Given the description of an element on the screen output the (x, y) to click on. 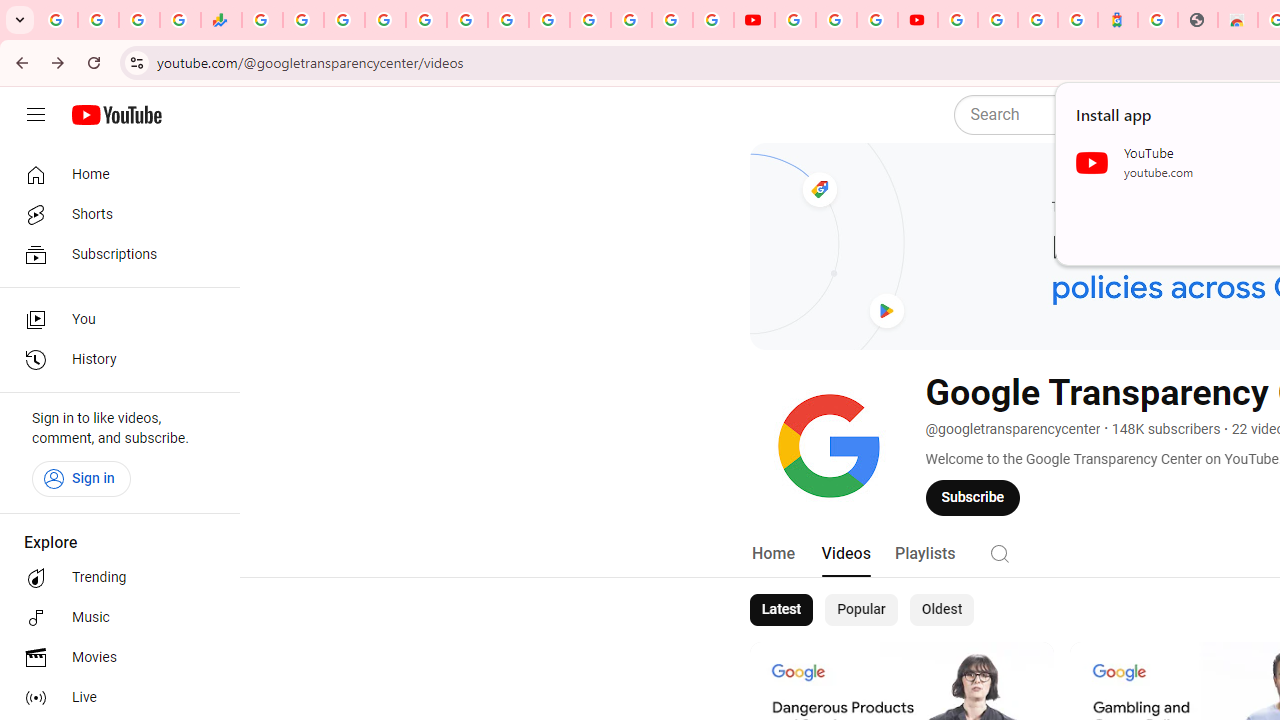
Latest (780, 609)
Sign in - Google Accounts (384, 20)
Sign in - Google Accounts (589, 20)
Subscriptions (113, 254)
Live (113, 697)
Videos (845, 553)
Shorts (113, 214)
Subscribe (973, 497)
